Given the description of an element on the screen output the (x, y) to click on. 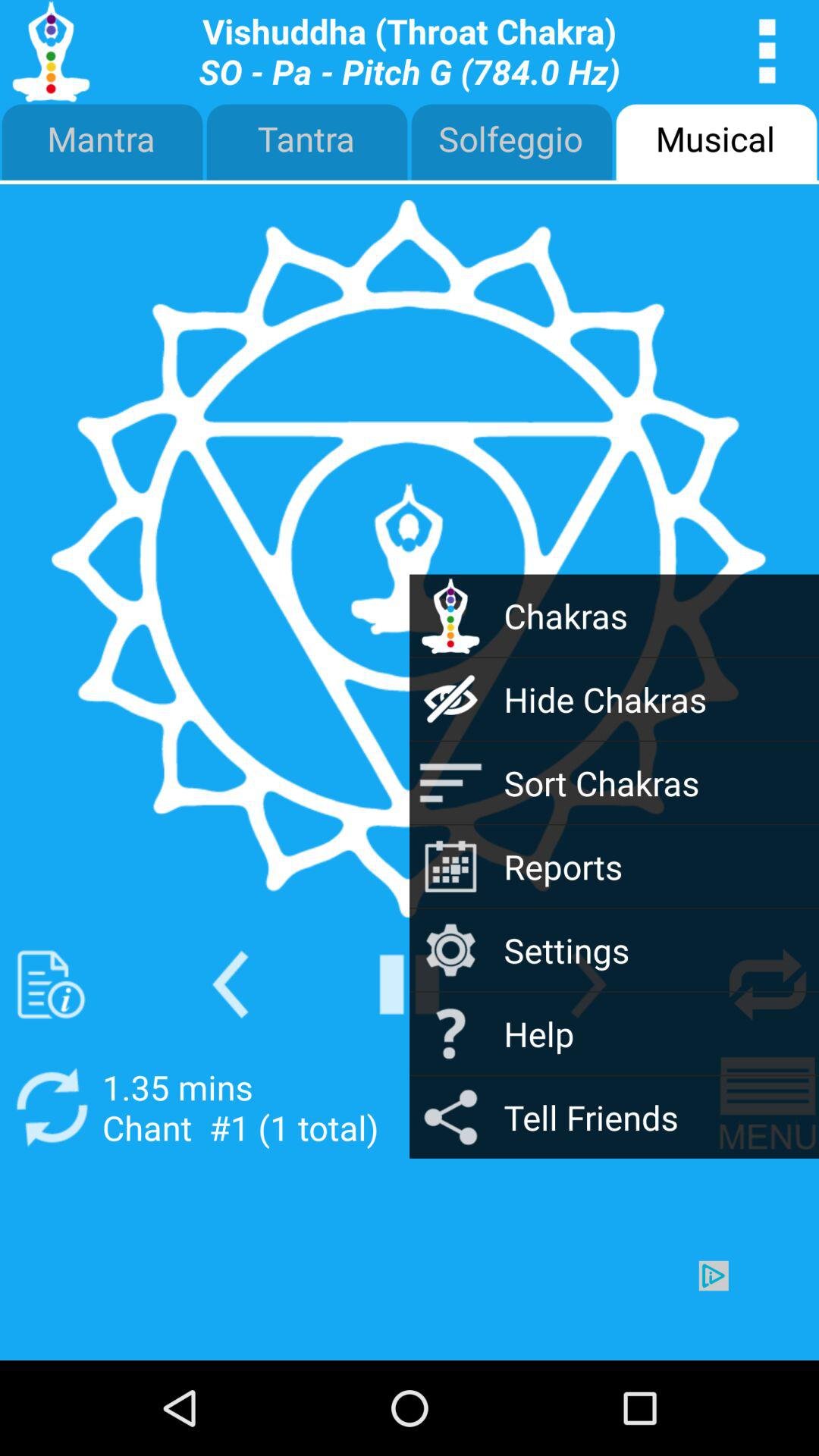
go to advertisements website (409, 1310)
